Given the description of an element on the screen output the (x, y) to click on. 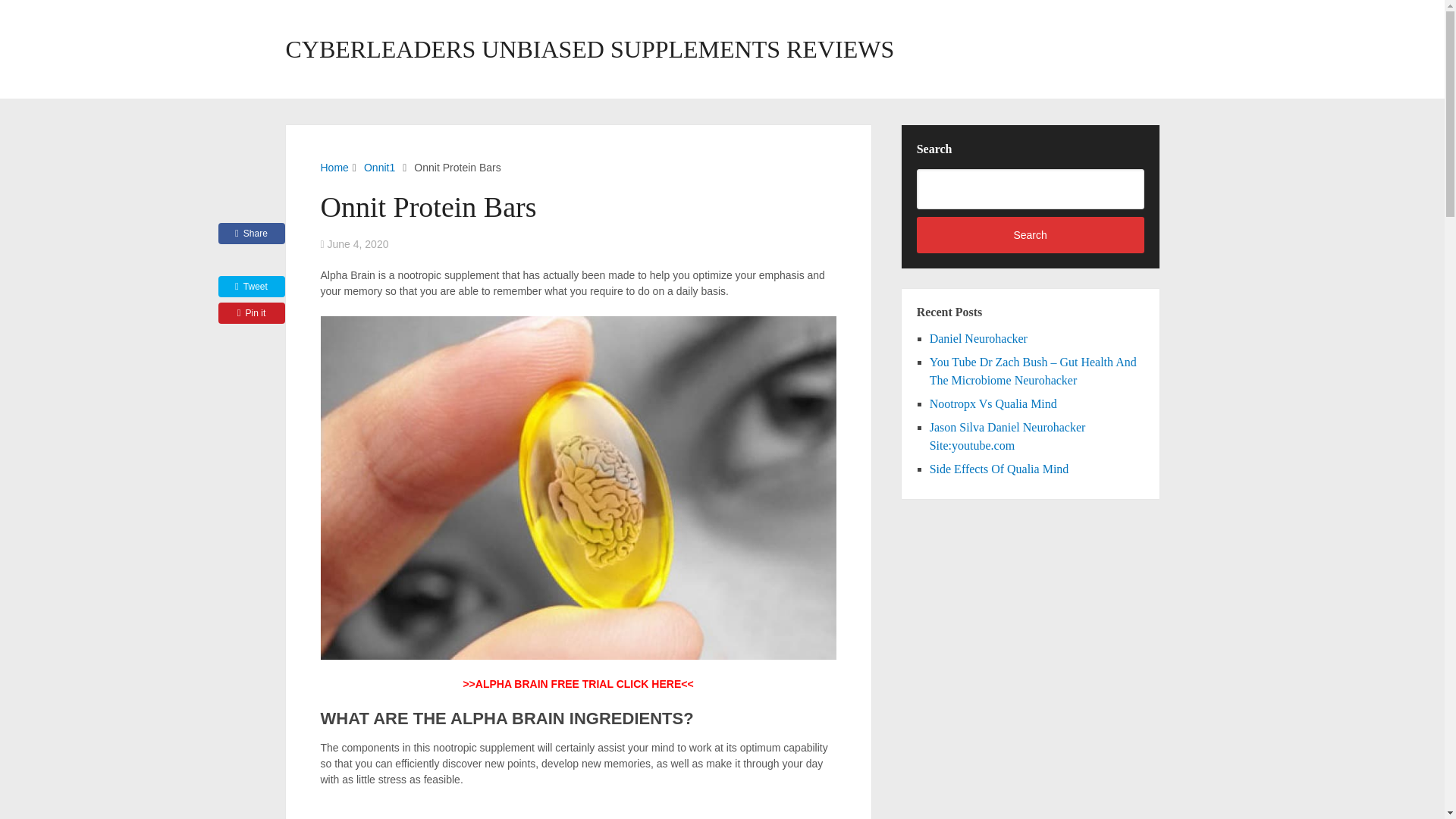
Jason Silva Daniel Neurohacker Site:youtube.com (1008, 436)
Daniel Neurohacker (978, 338)
CYBERLEADERS UNBIASED SUPPLEMENTS REVIEWS (589, 48)
Home (333, 167)
Pin it (251, 312)
Onnit1 (379, 167)
Share (251, 233)
Nootropx Vs Qualia Mind (993, 403)
Search (1030, 235)
Side Effects Of Qualia Mind (999, 468)
Tweet (251, 286)
